Given the description of an element on the screen output the (x, y) to click on. 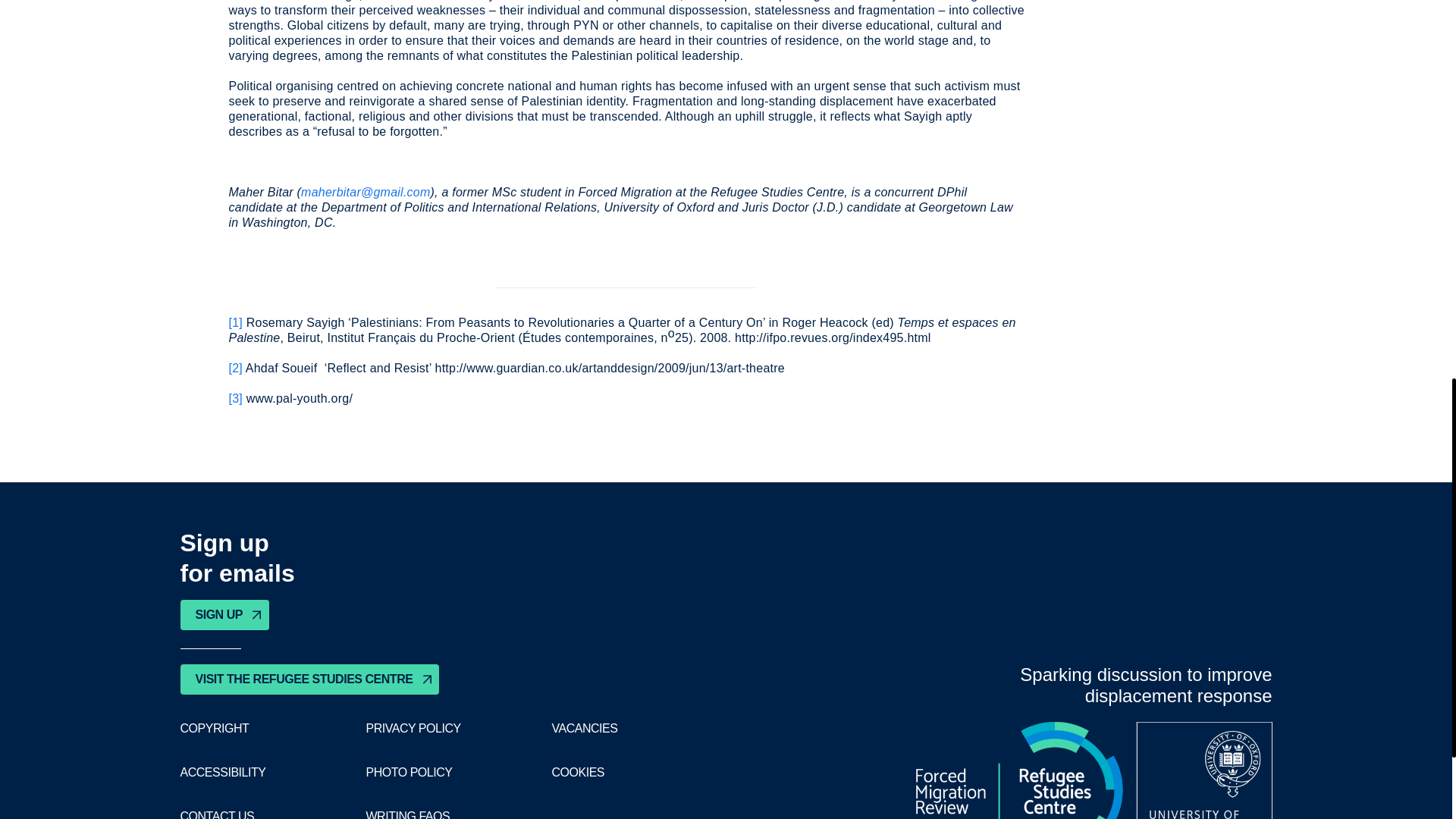
COOKIES (578, 772)
VISIT THE REFUGEE STUDIES CENTRE (309, 679)
COPYRIGHT (214, 728)
WRITING FAQS (407, 814)
VACANCIES (584, 728)
CONTACT US (217, 814)
PHOTO POLICY (408, 772)
ACCESSIBILITY (223, 772)
SIGN UP (224, 614)
PRIVACY POLICY (412, 728)
